Given the description of an element on the screen output the (x, y) to click on. 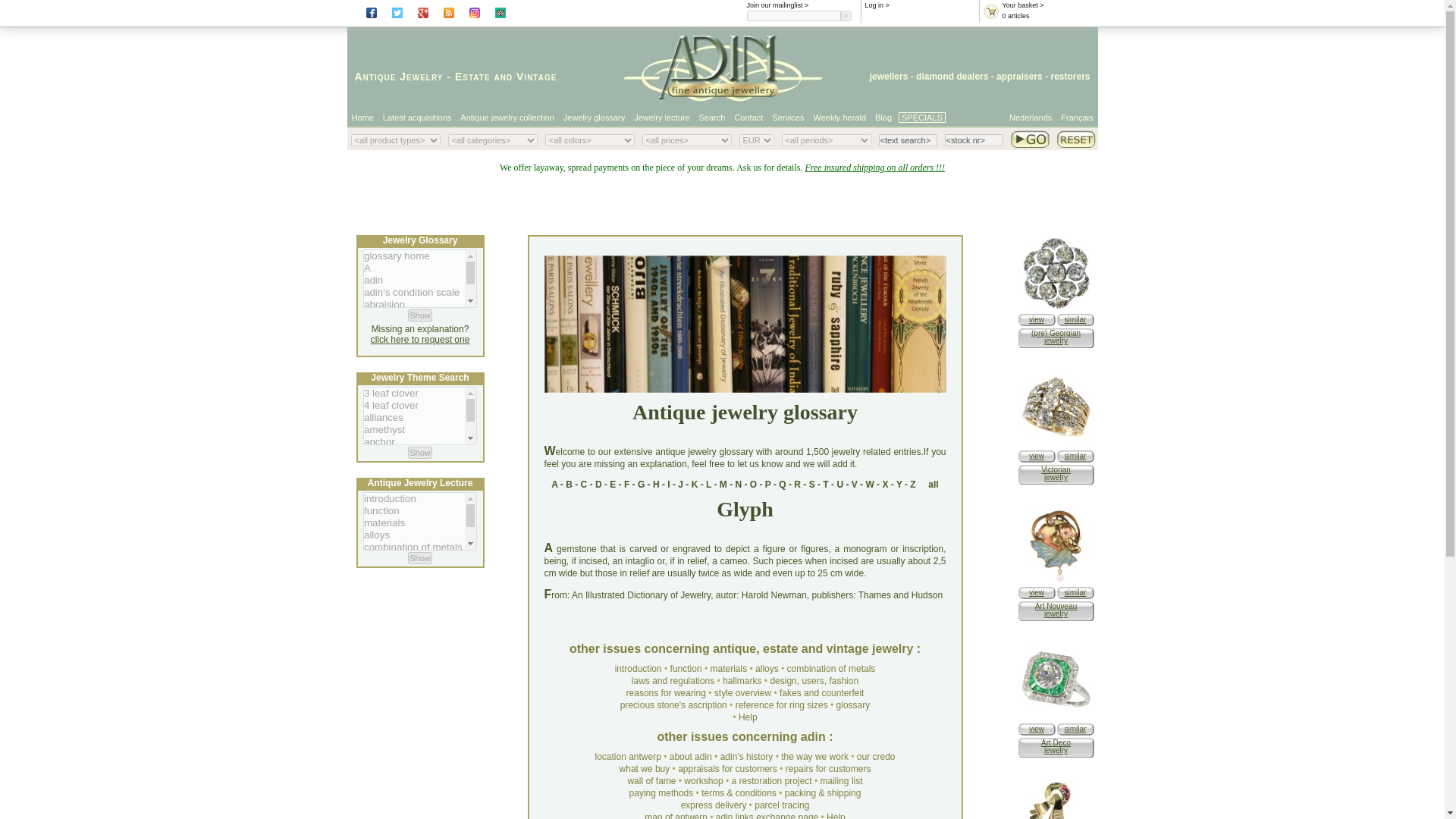
More info on this Art Nouveau jewel (1036, 592)
Log in (873, 5)
Estate (472, 76)
Weekly herald (839, 117)
Nederlands (1030, 117)
More Art Deco jewelry (1075, 728)
Contact (748, 117)
Search (712, 117)
SPECIALS (921, 117)
More info on this Art Deco jewel (1055, 717)
Antique Jewelry (399, 76)
appraisers (1018, 76)
Vintage (536, 76)
Show (419, 452)
Show (419, 315)
